Given the description of an element on the screen output the (x, y) to click on. 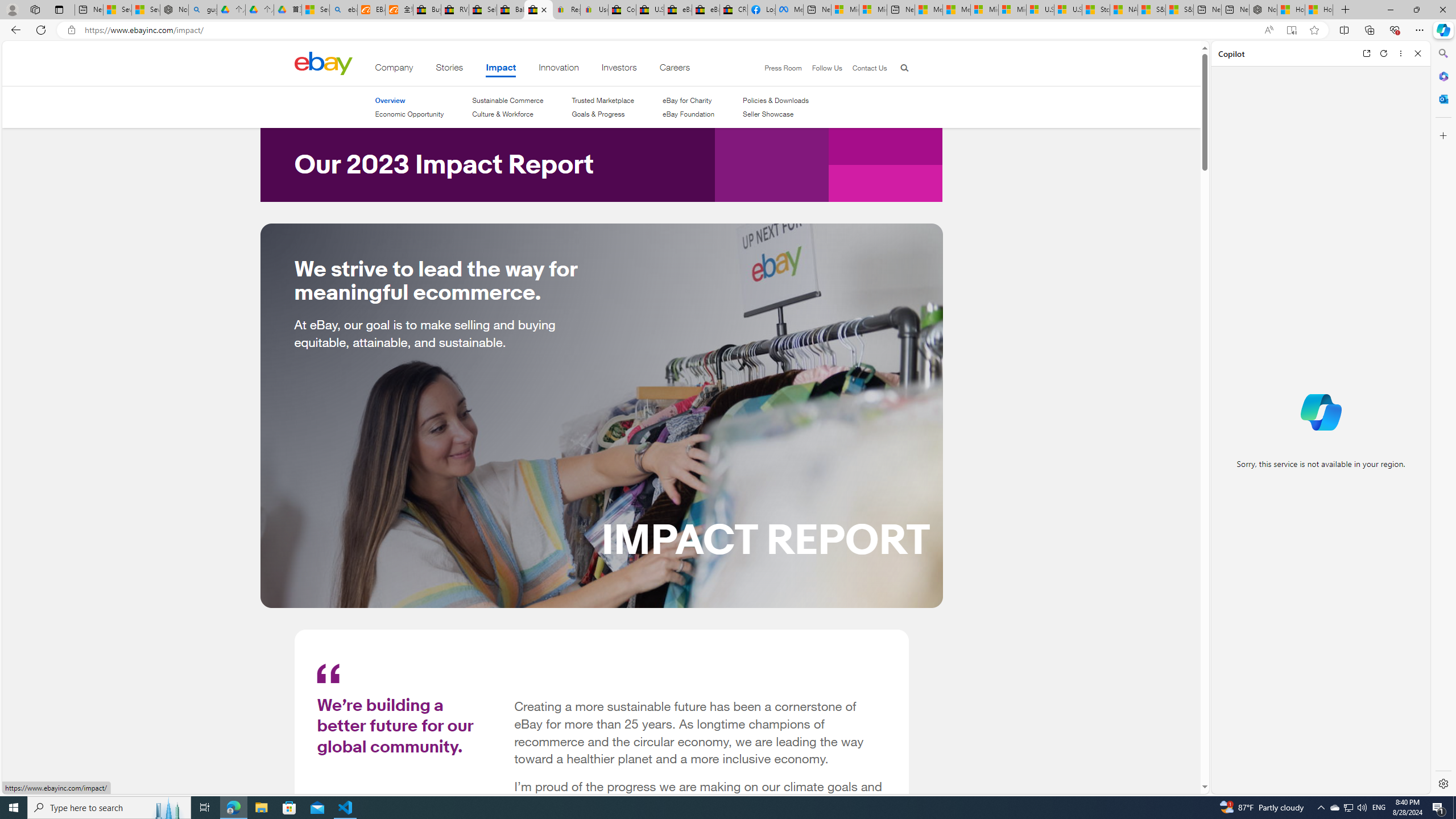
Press Room (783, 67)
Overview (390, 99)
eBay for Charity (686, 99)
Careers (674, 69)
Stories (449, 69)
User Privacy Notice | eBay (593, 9)
Customize (1442, 135)
Log into Facebook (761, 9)
